Given the description of an element on the screen output the (x, y) to click on. 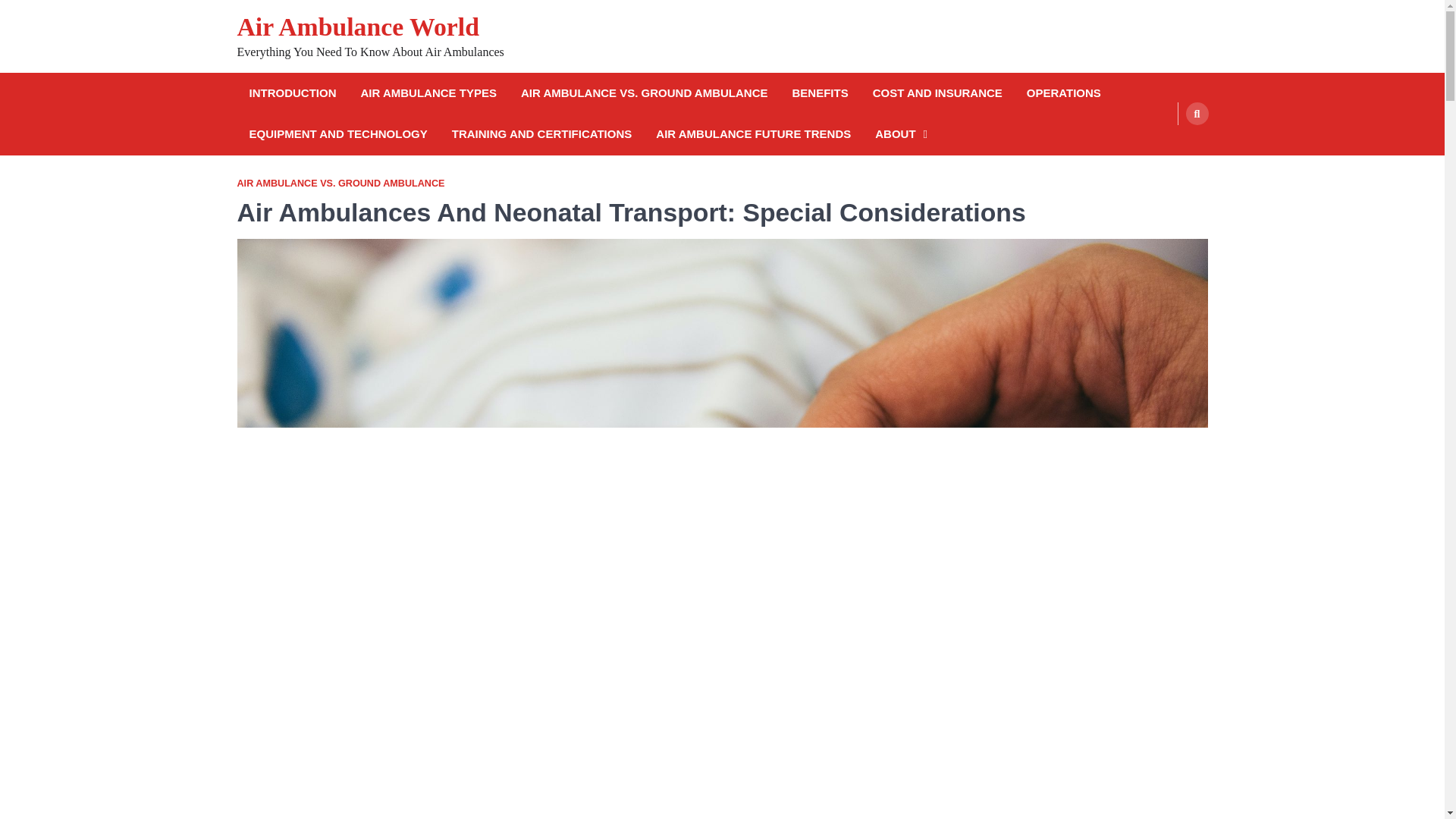
AIR AMBULANCE FUTURE TRENDS (753, 134)
AIR AMBULANCE TYPES (428, 93)
COST AND INSURANCE (937, 93)
BENEFITS (819, 93)
Search (1197, 113)
EQUIPMENT AND TECHNOLOGY (337, 134)
INTRODUCTION (292, 93)
TRAINING AND CERTIFICATIONS (542, 134)
ABOUT (901, 134)
OPERATIONS (1063, 93)
